Given the description of an element on the screen output the (x, y) to click on. 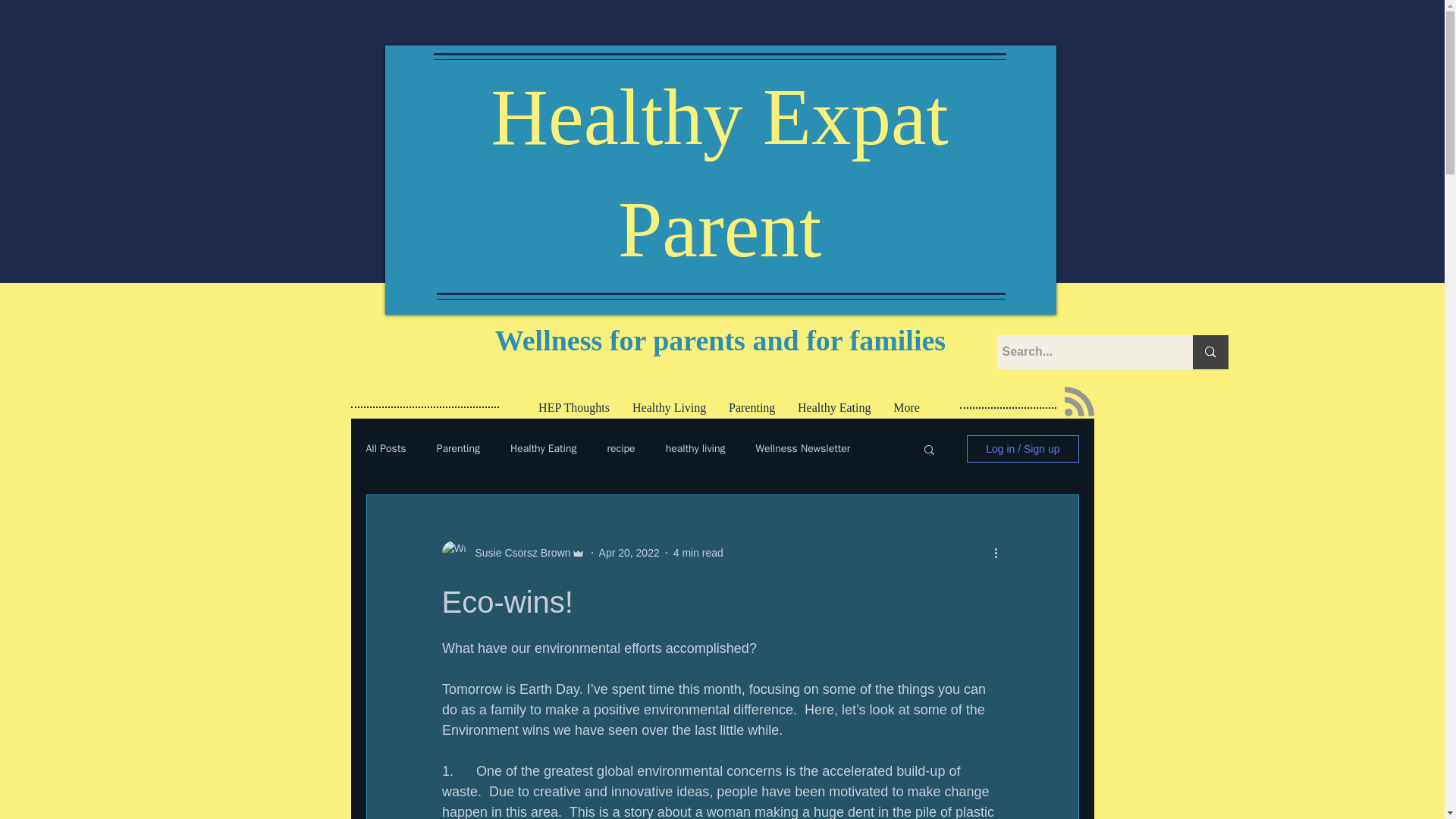
Wellness Newsletter (802, 448)
Parenting (751, 407)
4 min read (697, 551)
Healthy Eating (834, 407)
Healthy Living (669, 407)
recipe (620, 448)
HEP Thoughts (574, 407)
Susie Csorsz Brown (517, 552)
healthy living (695, 448)
Healthy Eating (543, 448)
Parenting (458, 448)
All Posts (385, 448)
Apr 20, 2022 (628, 551)
